Given the description of an element on the screen output the (x, y) to click on. 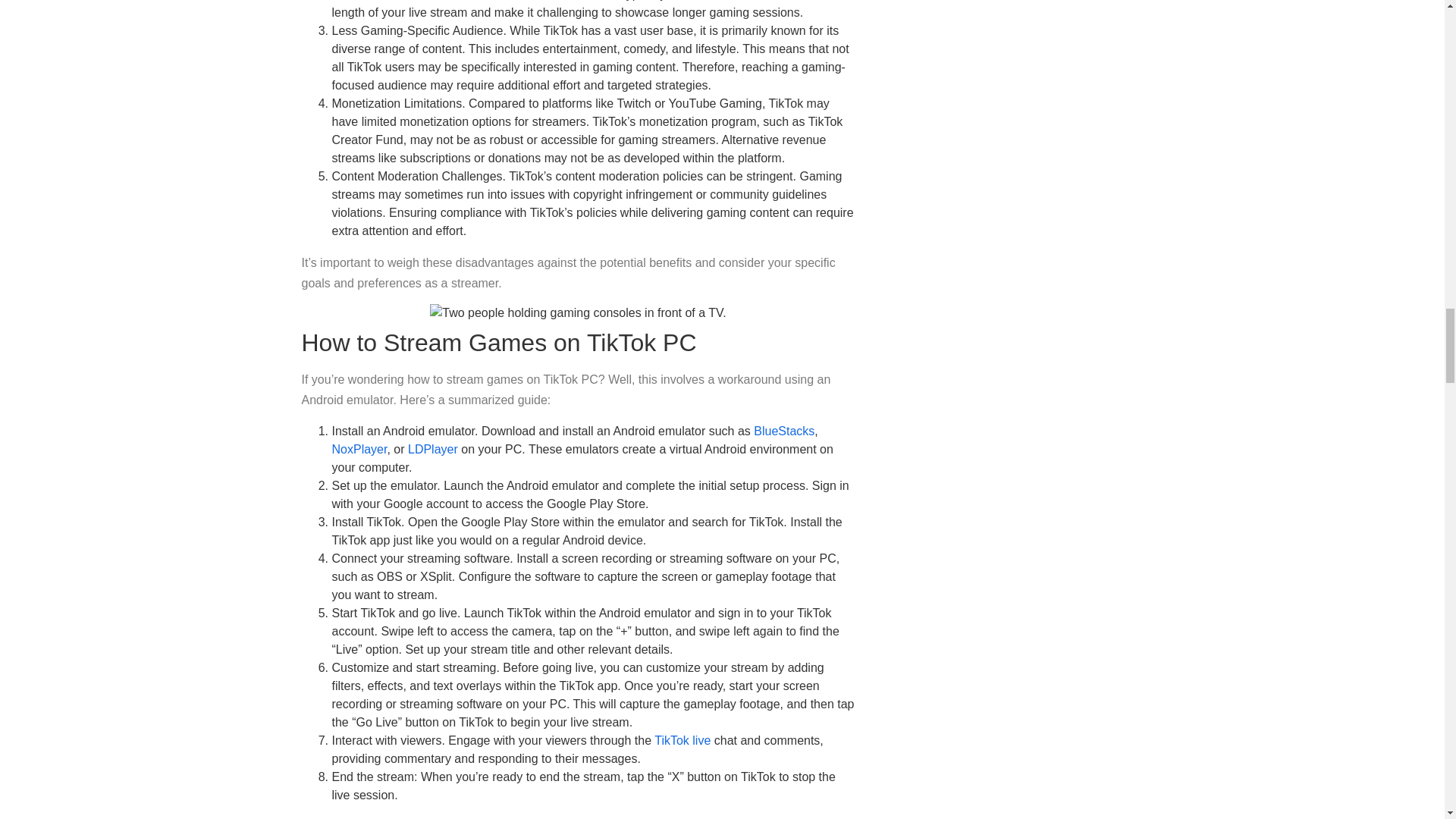
BlueStacks (783, 431)
NoxPlayer (359, 449)
LDPlayer (432, 449)
TikTok live (681, 739)
